Given the description of an element on the screen output the (x, y) to click on. 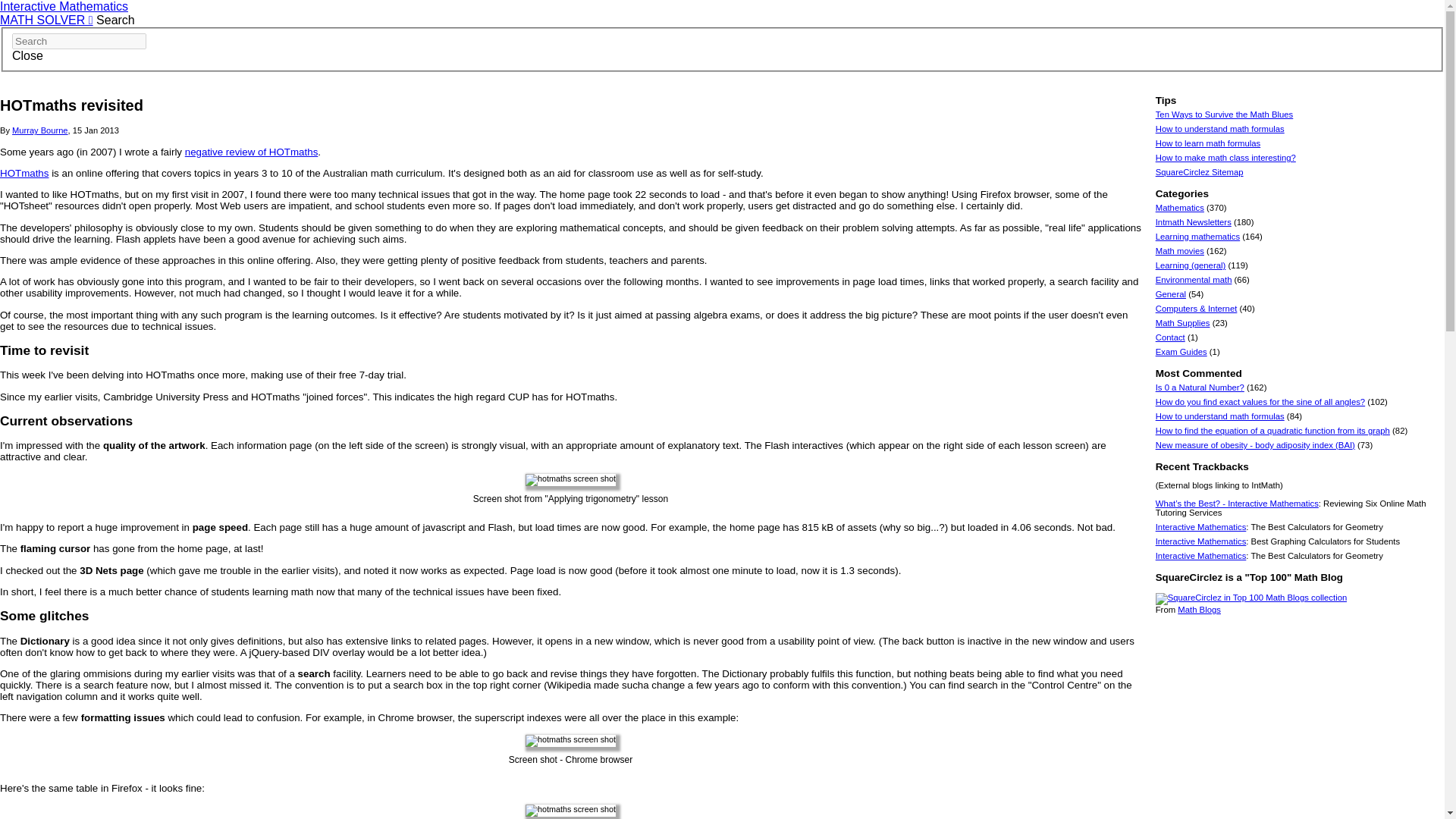
Review of HOTmaths (251, 152)
negative review of HOTmaths (251, 152)
Interactive Mathematics (64, 6)
HOTmaths site (24, 173)
Murray Bourne (38, 130)
Close (27, 55)
HOTmaths (24, 173)
